Given the description of an element on the screen output the (x, y) to click on. 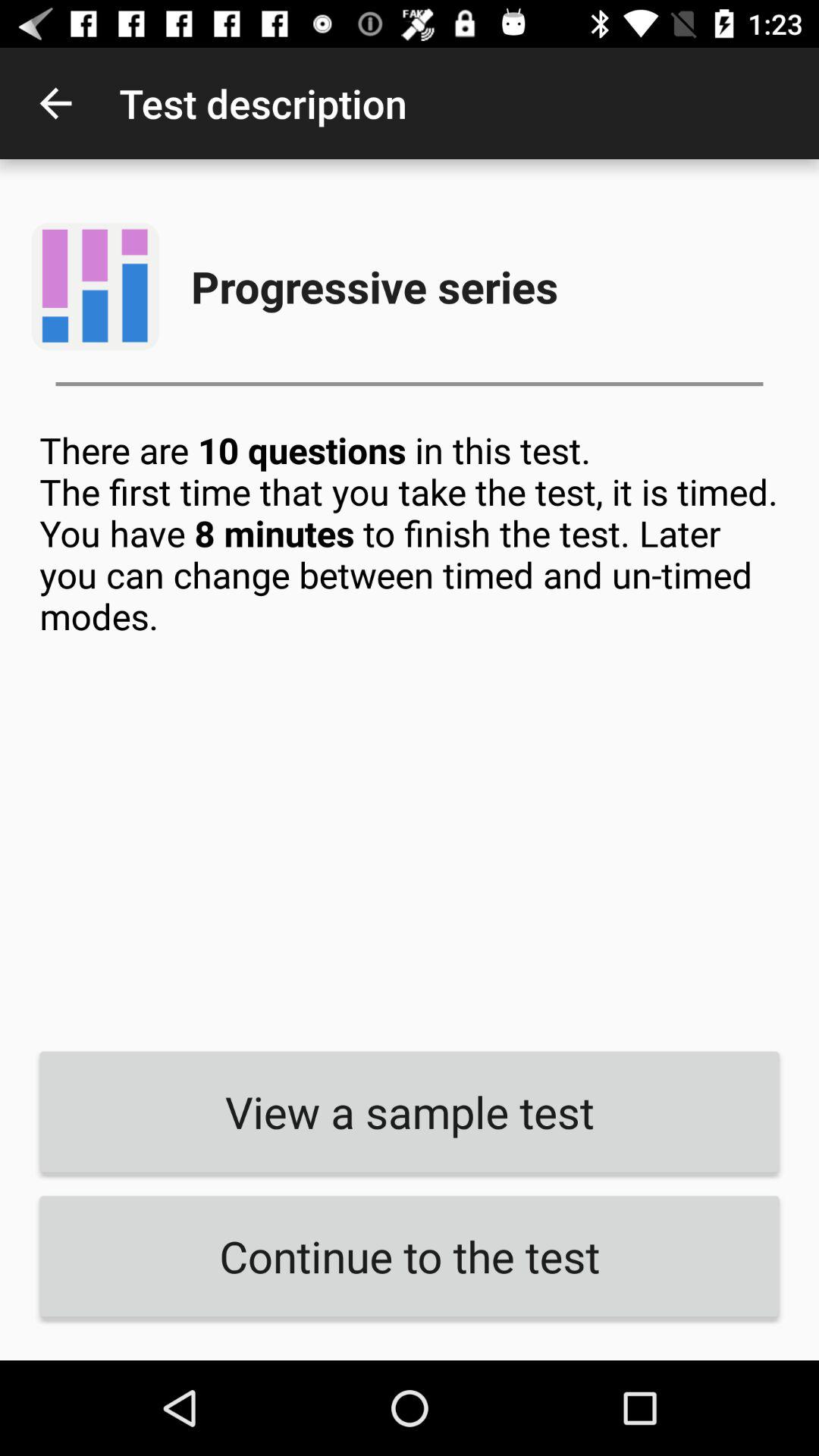
select icon above the view a sample (409, 728)
